Given the description of an element on the screen output the (x, y) to click on. 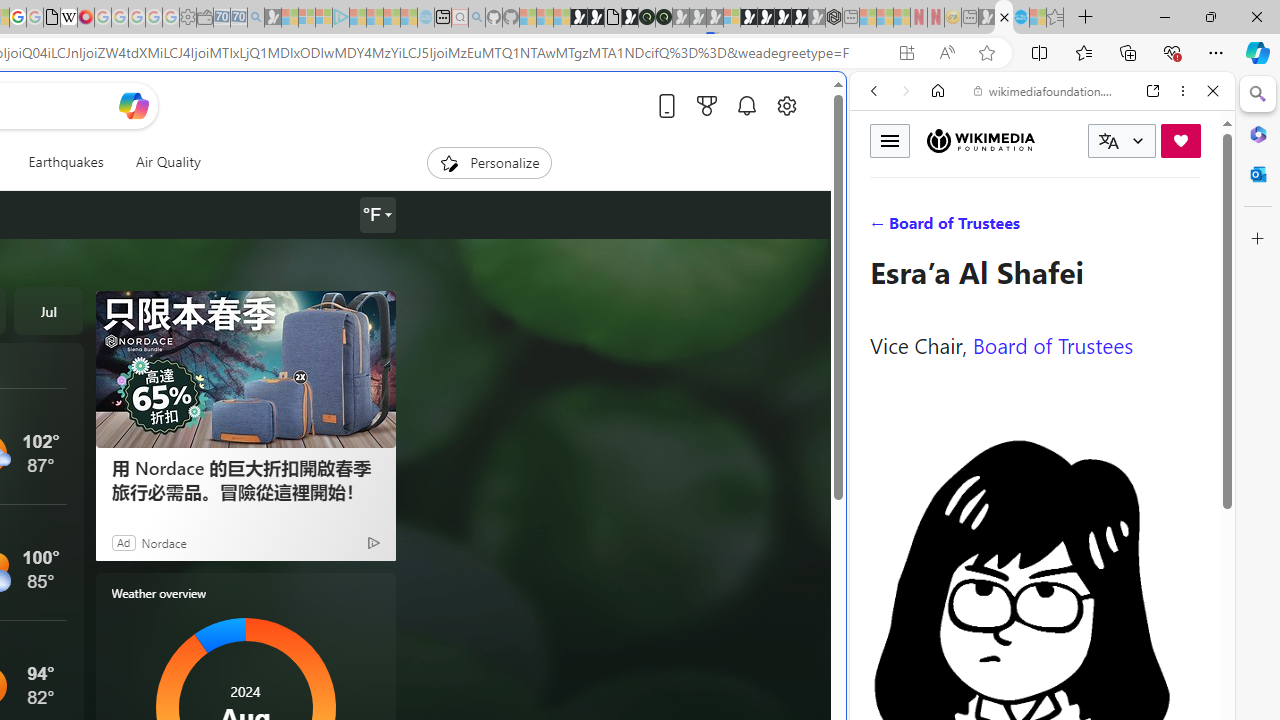
Close split screen (844, 102)
MSN - Sleeping (986, 17)
Search the web (1051, 137)
IMAGES (939, 228)
Search Filter, Search Tools (1093, 228)
Jul (48, 310)
WEB   (882, 228)
